Given the description of an element on the screen output the (x, y) to click on. 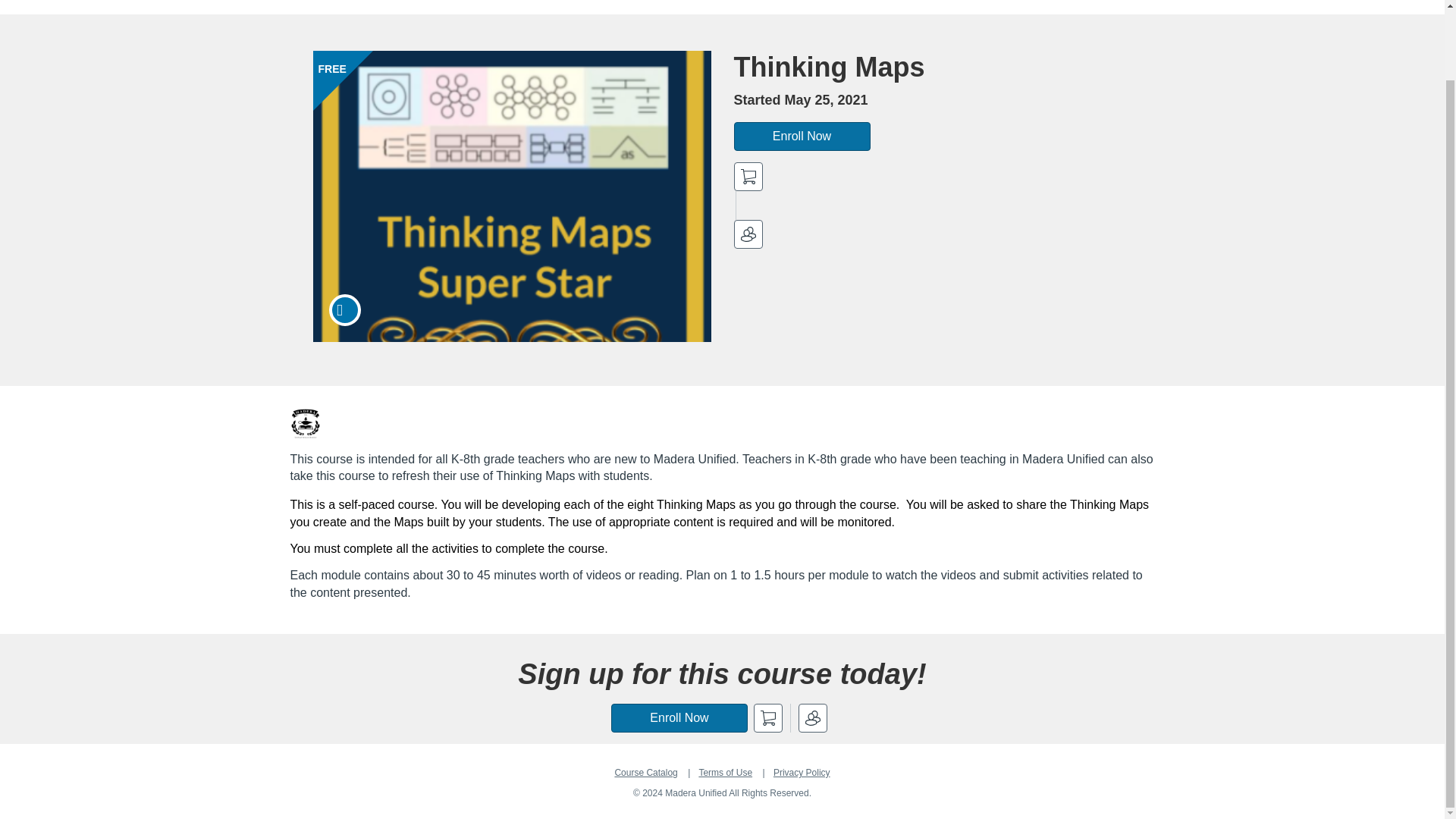
Bulk Purchase (812, 717)
Madera Unified (304, 423)
Course (345, 309)
Course Catalog (645, 772)
Add to Cart (747, 176)
Enroll Now (679, 717)
Bulk Purchase (747, 234)
Terms of Use (725, 772)
Enroll Now (801, 136)
Privacy Policy (801, 772)
